Given the description of an element on the screen output the (x, y) to click on. 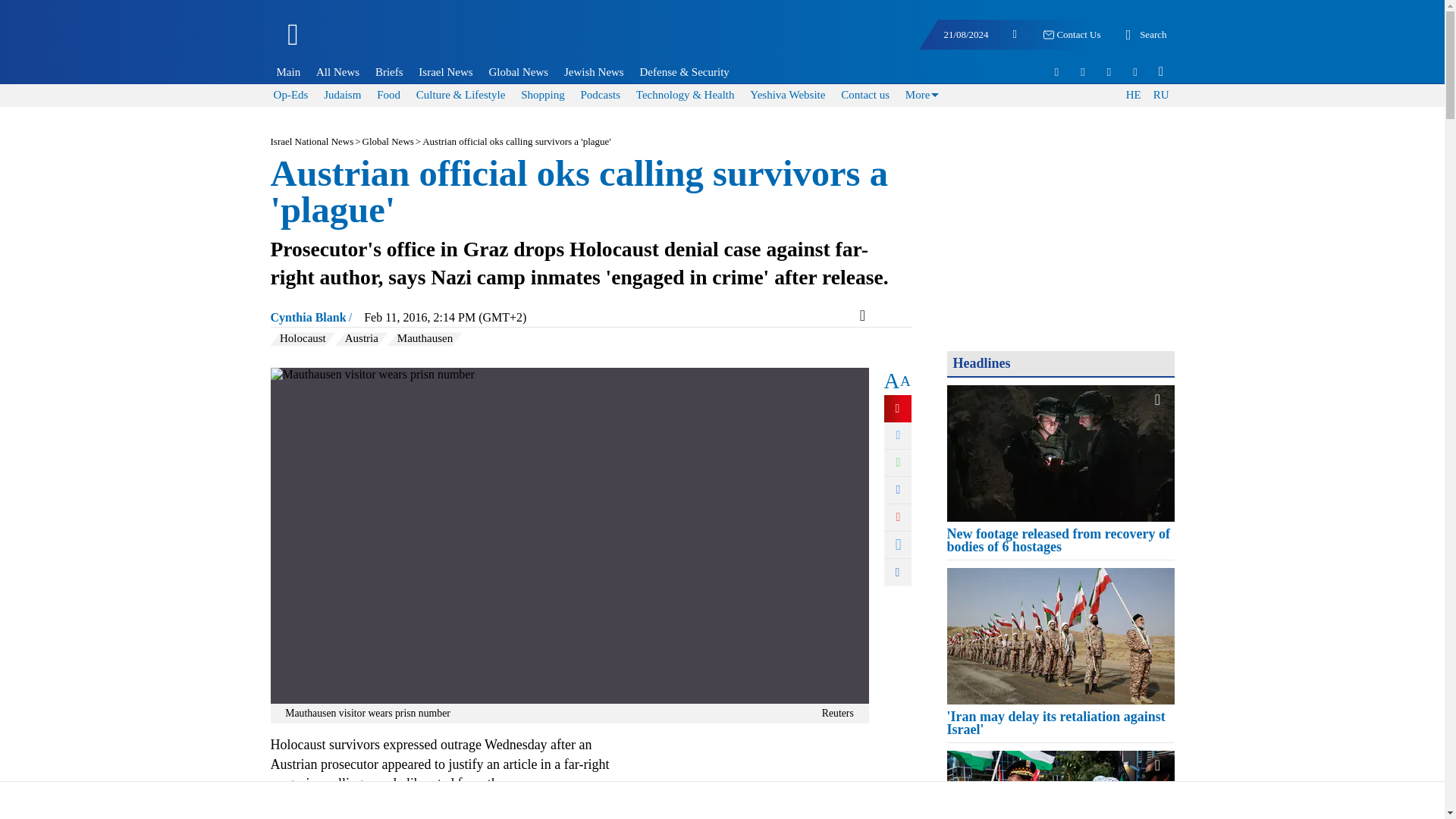
HE (1133, 95)
Israel News (445, 71)
Shopping (542, 94)
Judaism (342, 94)
Israel National News - Arutz Sheva (373, 40)
Food (388, 94)
Contact Us (1071, 34)
RU (1160, 95)
Yeshiva Website (787, 94)
Israel National News (311, 141)
